Given the description of an element on the screen output the (x, y) to click on. 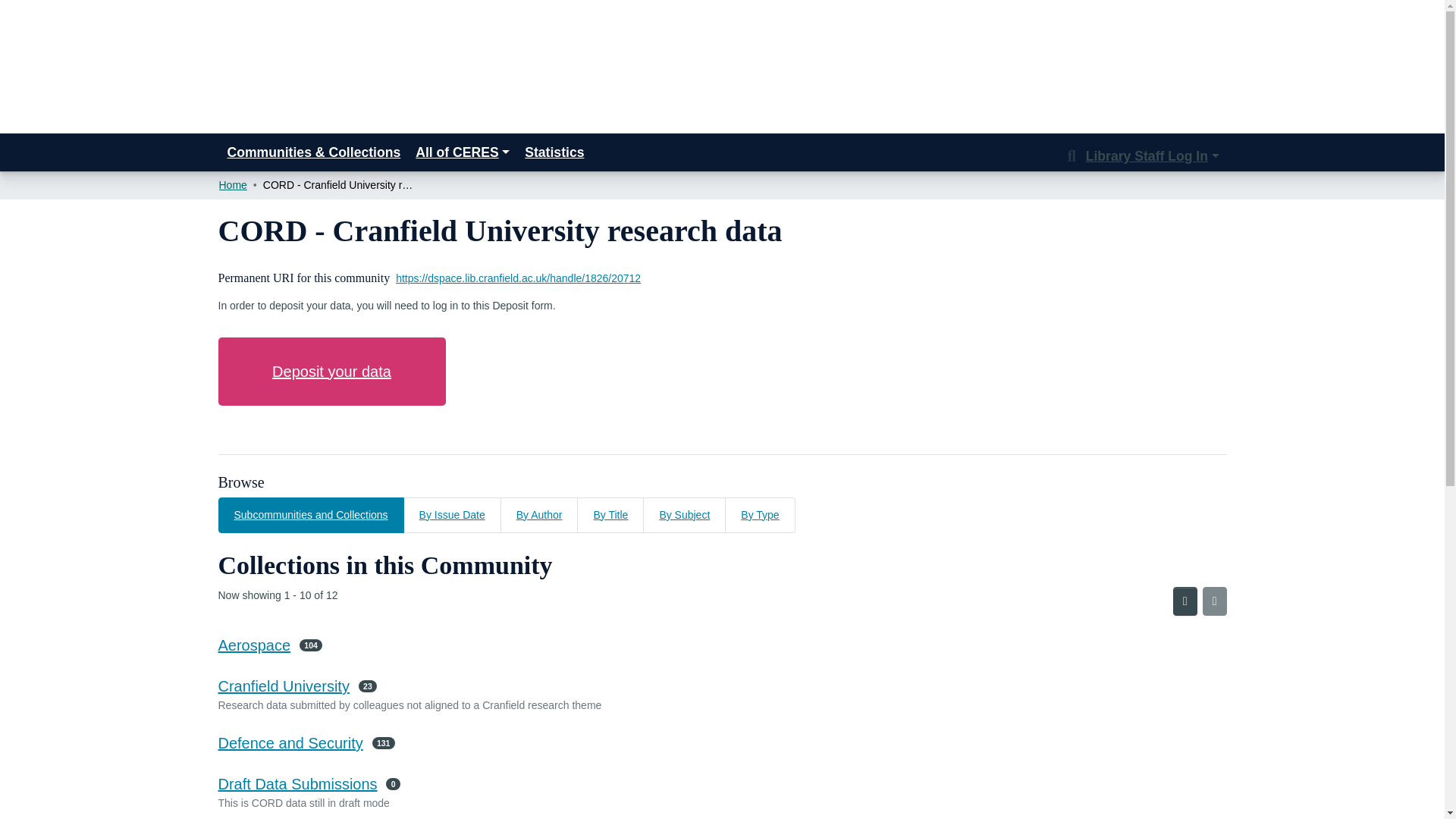
Aerospace (254, 644)
By Type (759, 515)
Subcommunities and Collections (311, 515)
By Title (610, 515)
Search (1071, 156)
Draft Data Submissions (297, 784)
Home (232, 185)
Statistics (553, 152)
Deposit your data (331, 371)
By Issue Date (452, 515)
